Given the description of an element on the screen output the (x, y) to click on. 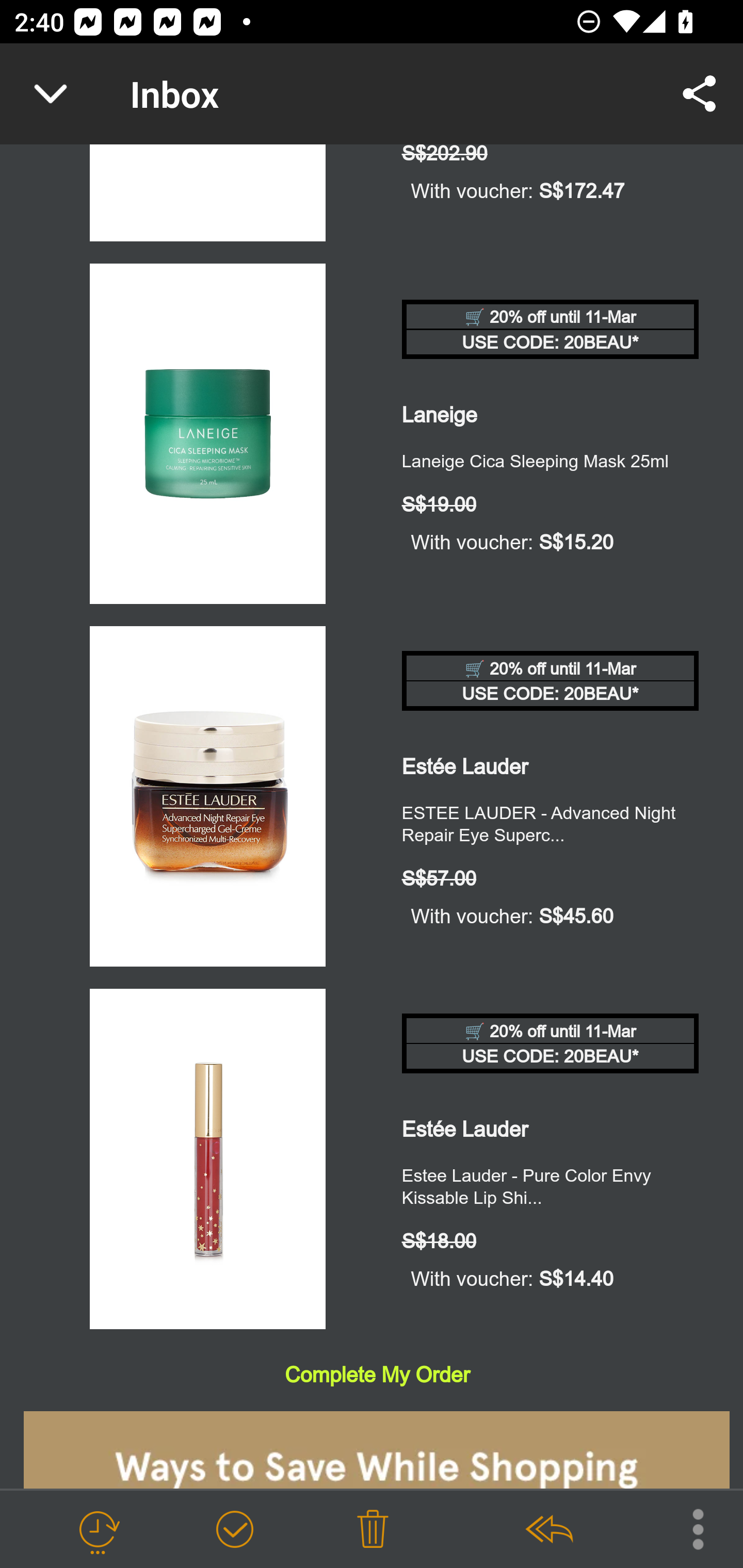
Navigate up (50, 93)
Share (699, 93)
Laneige Cica Sleeping Mask 25ml (207, 436)
Complete My Order (376, 1375)
More Options (687, 1528)
Snooze (97, 1529)
Mark as Done (234, 1529)
Delete (372, 1529)
Reply All (548, 1529)
